Given the description of an element on the screen output the (x, y) to click on. 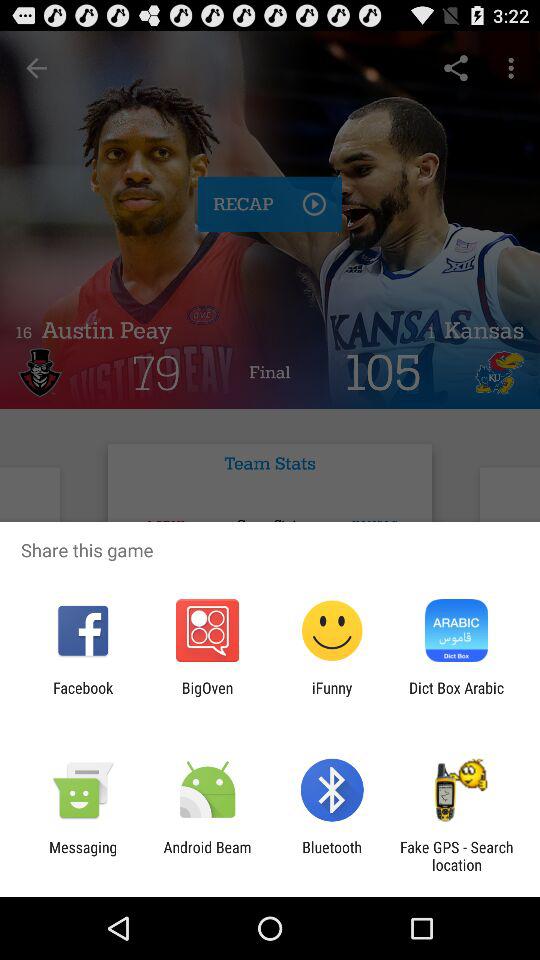
turn on the bigoven item (207, 696)
